Given the description of an element on the screen output the (x, y) to click on. 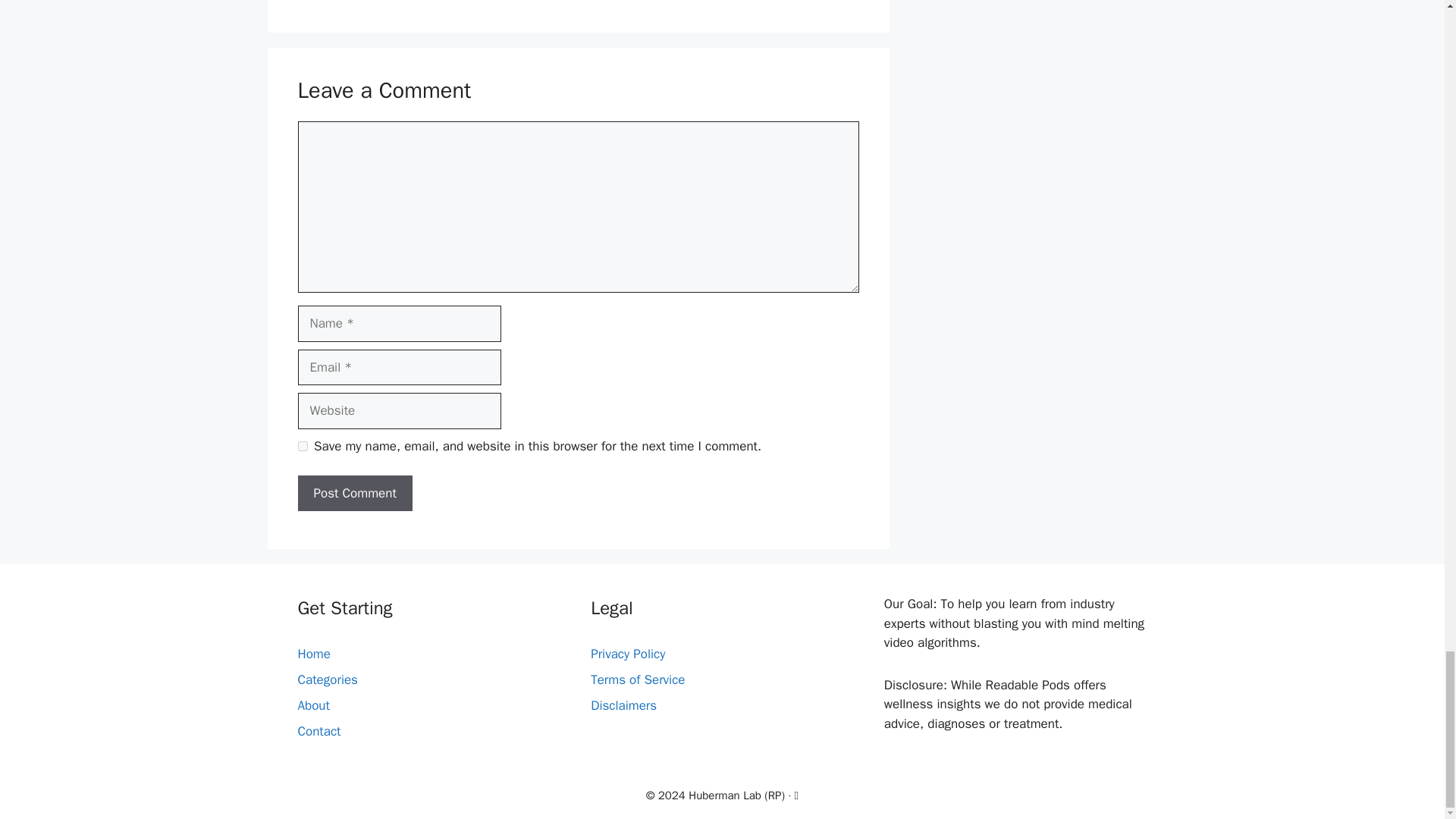
Post Comment (354, 493)
Categories (326, 679)
Privacy Policy (628, 653)
Terms of Service (637, 679)
yes (302, 446)
About (313, 705)
Disclaimers (623, 705)
Contact (318, 731)
Post Comment (354, 493)
Home (313, 653)
